Given the description of an element on the screen output the (x, y) to click on. 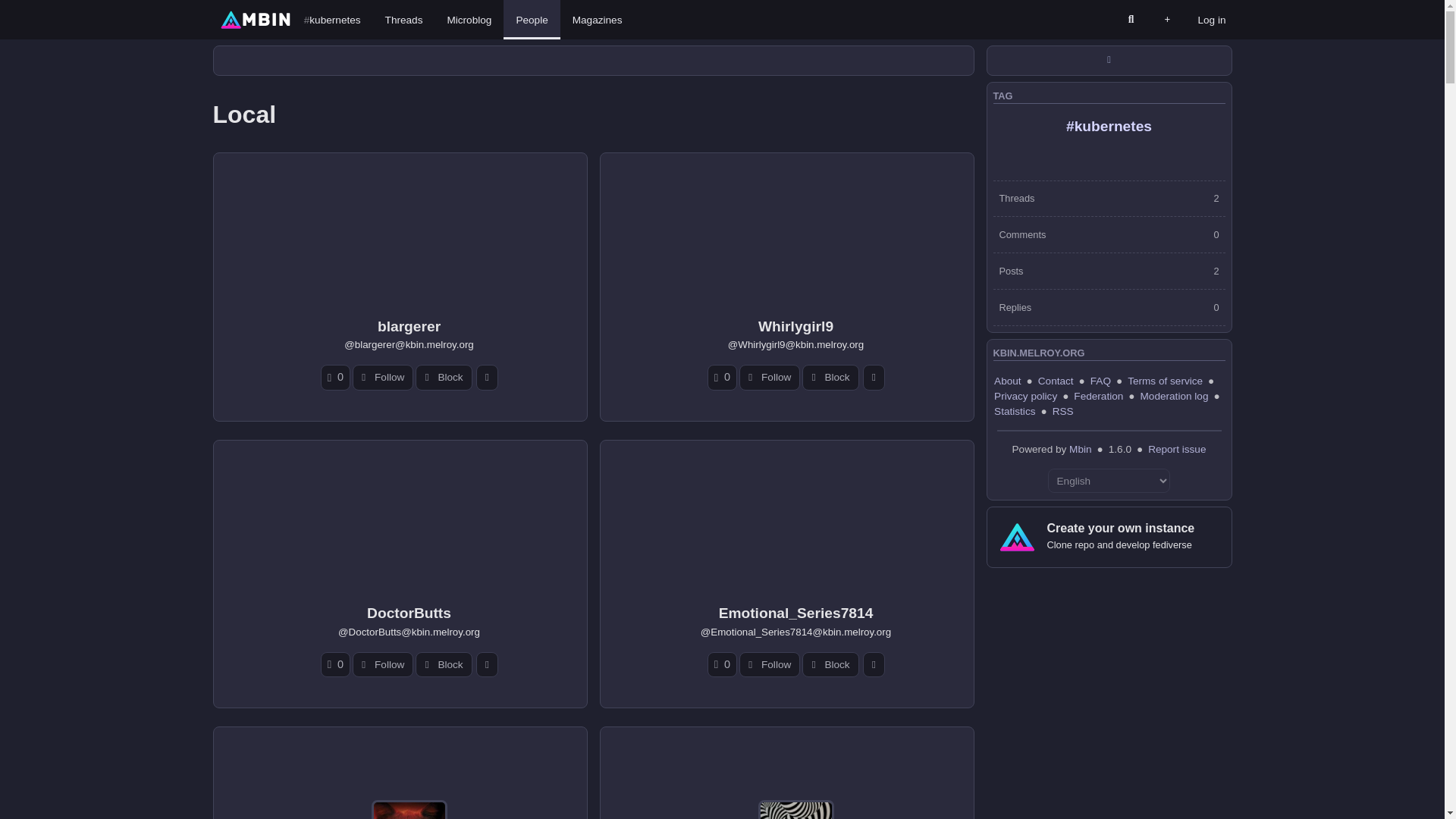
DoctorButts (408, 612)
Block (830, 664)
Whirlygirl9 (795, 326)
Block (442, 376)
0 Followers (335, 376)
Follow (382, 664)
Follow (769, 664)
Magazines (597, 19)
0 Followers (721, 376)
blargerer (409, 326)
Follow (769, 376)
Go to content (218, 6)
Add (1166, 19)
Block (830, 376)
Block (442, 664)
